Given the description of an element on the screen output the (x, y) to click on. 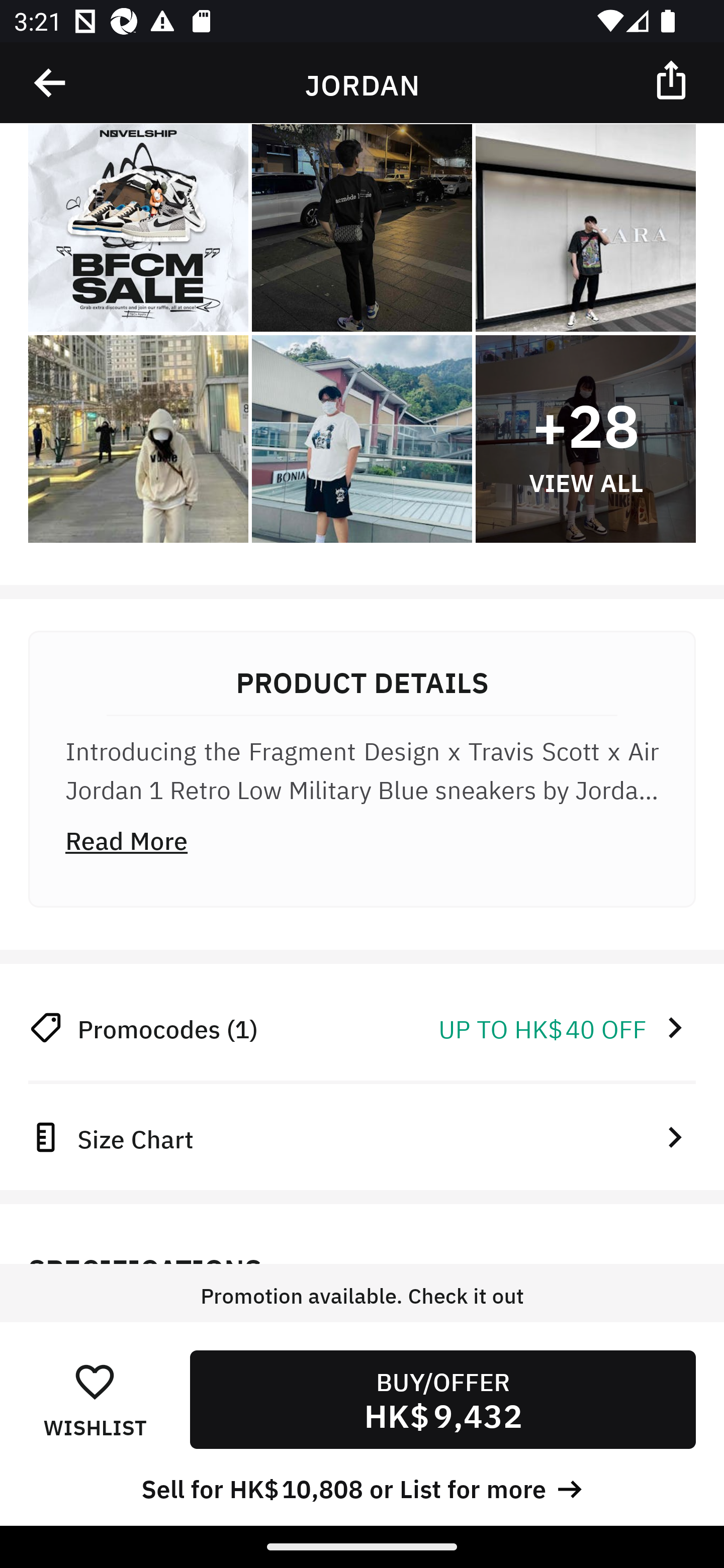
 (50, 83)
 (672, 79)
Promocodes (1) UP TO HK$ 40 OFF  (361, 1027)
Size Chart  (361, 1137)
BUY/OFFER HK$ 9,432 (442, 1399)
󰋕 (94, 1380)
Sell for HK$ 10,808 or List for more (361, 1486)
